Given the description of an element on the screen output the (x, y) to click on. 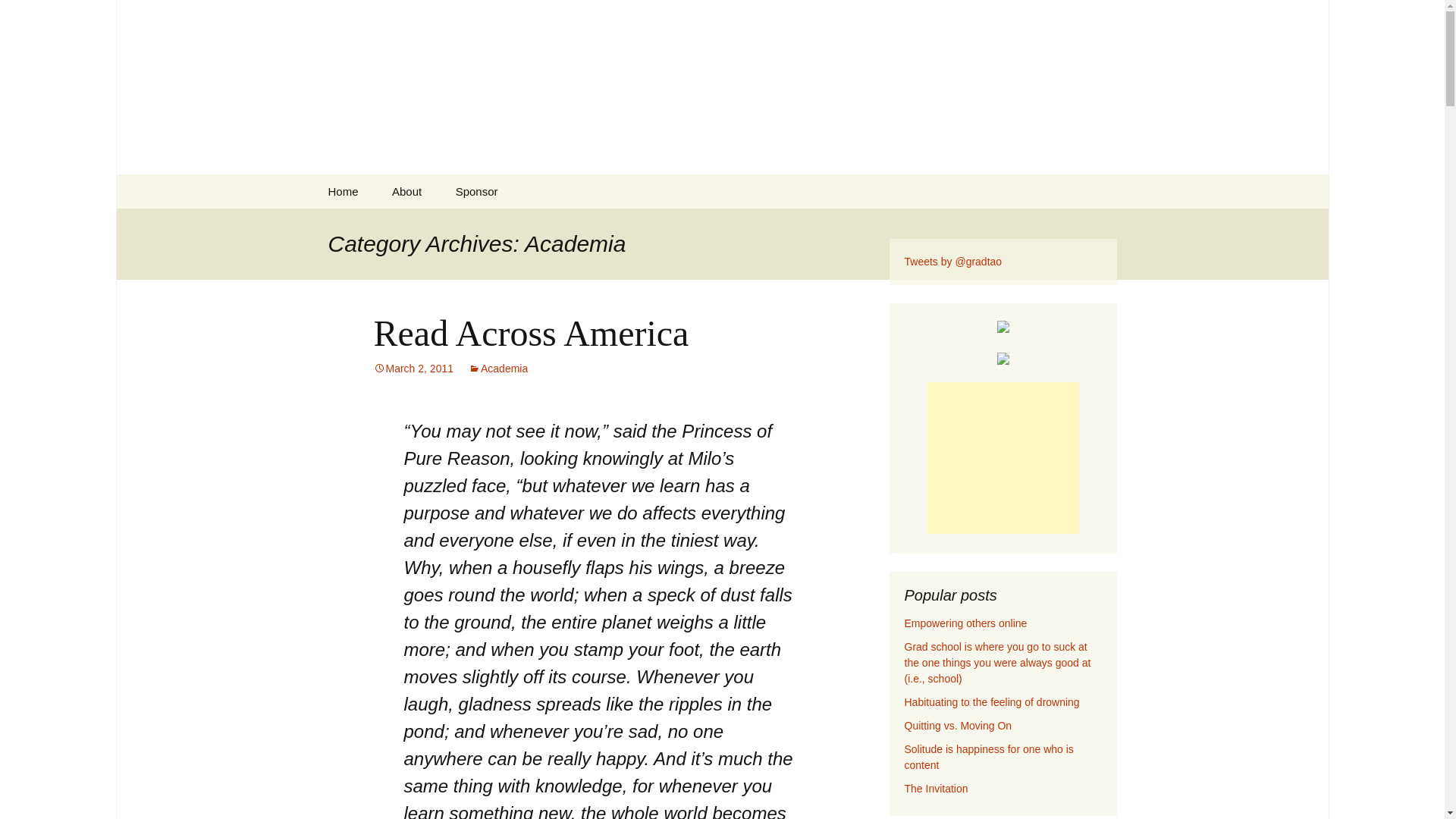
Search (18, 15)
Skip to content (353, 183)
Academia (497, 368)
About (406, 191)
Read Across America (530, 332)
Sponsor (477, 191)
March 2, 2011 (412, 368)
Skip to content (353, 183)
Search for: (1103, 191)
Home (342, 191)
Permalink to Read Across America (412, 368)
